Given the description of an element on the screen output the (x, y) to click on. 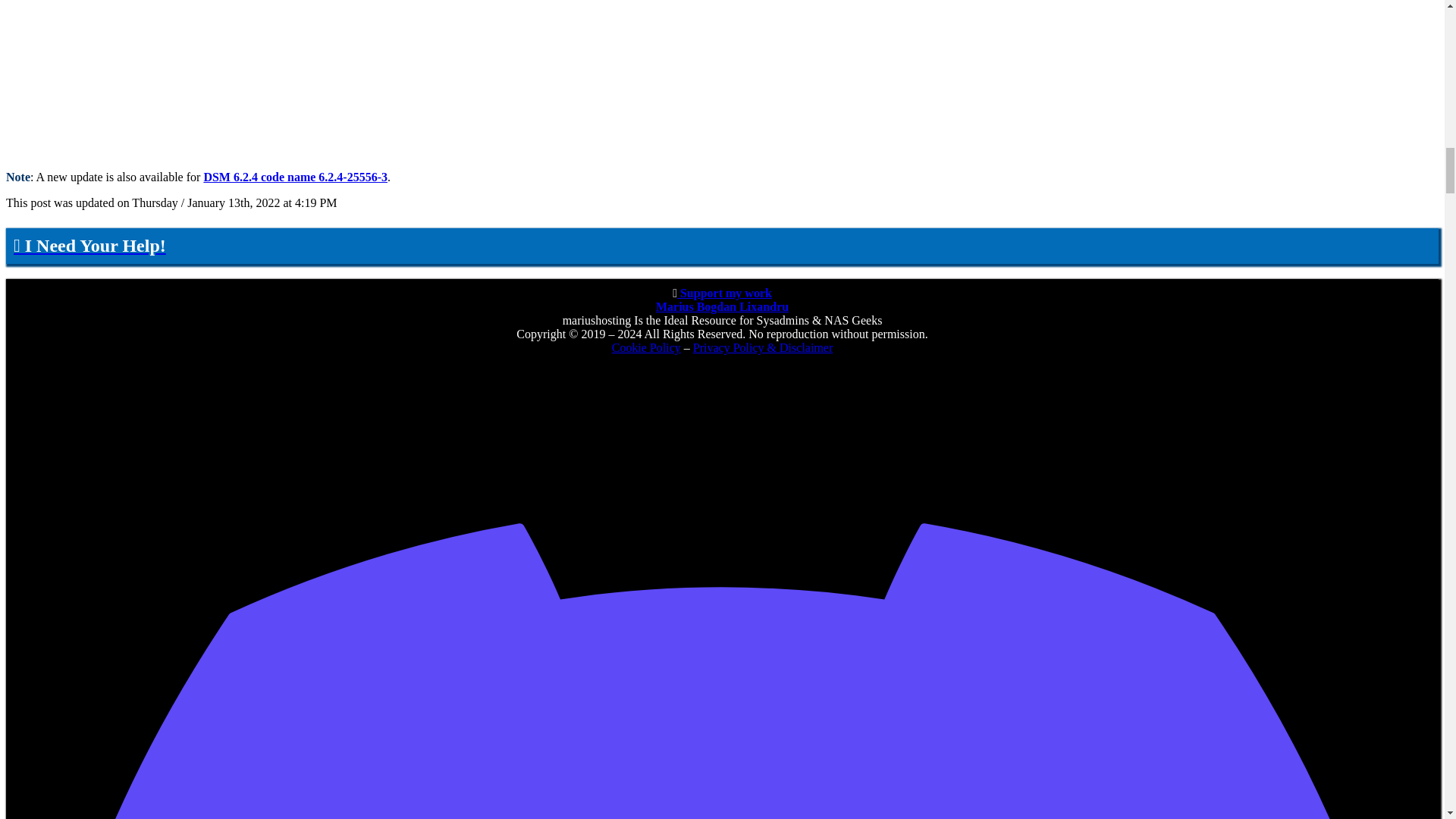
Cookie Policy (646, 347)
 Support my work (724, 292)
DSM 6.2.4 code name 6.2.4-25556-3 (295, 176)
Marius Bogdan Lixandru (722, 306)
